Given the description of an element on the screen output the (x, y) to click on. 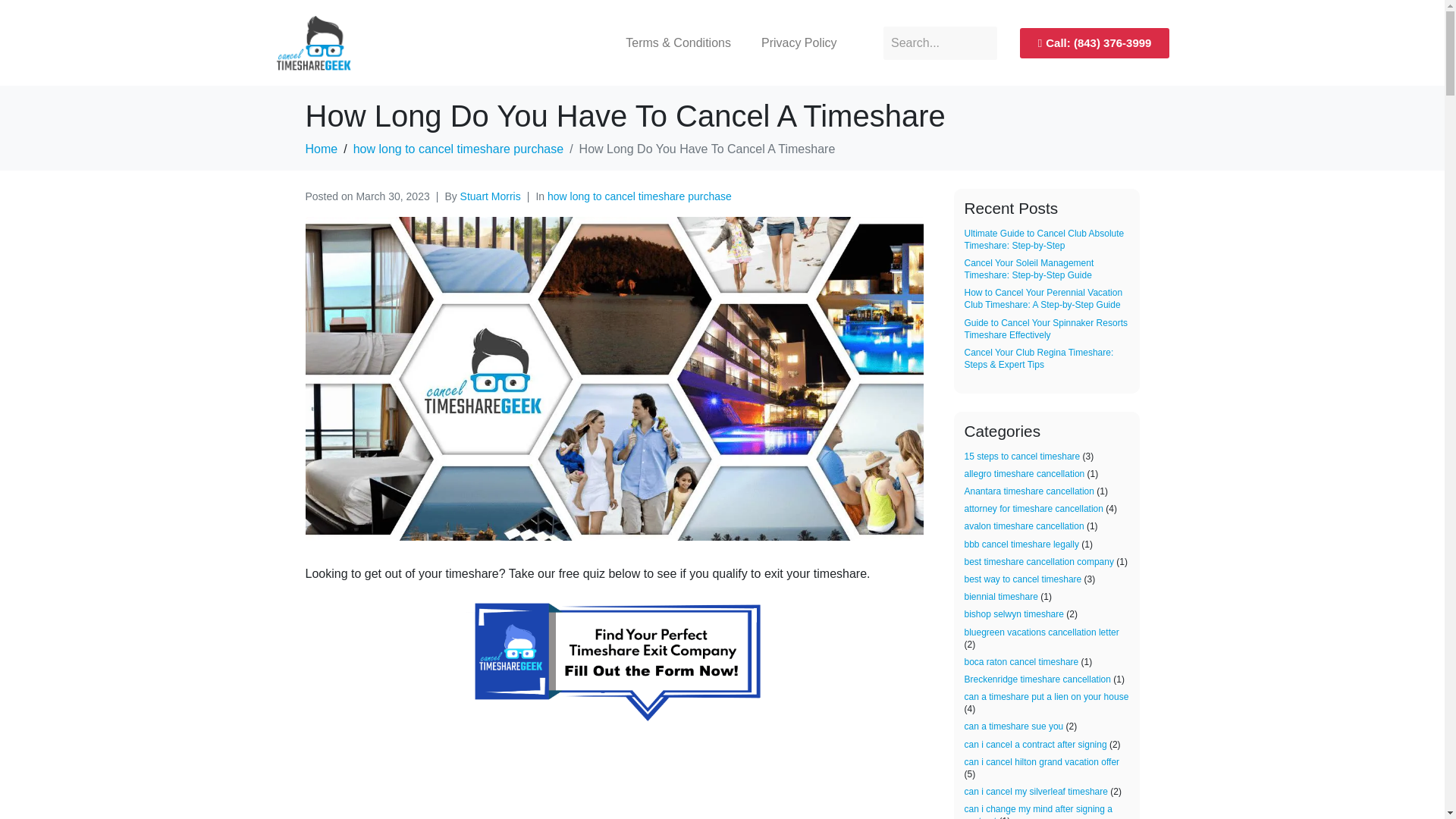
Anantara timeshare cancellation (1028, 491)
Stuart Morris (490, 196)
attorney for timeshare cancellation (1033, 508)
Search (940, 42)
allegro timeshare cancellation (1023, 473)
best timeshare cancellation company (1038, 561)
best way to cancel timeshare (1022, 579)
how long to cancel timeshare purchase (458, 148)
Privacy Policy (798, 42)
